Given the description of an element on the screen output the (x, y) to click on. 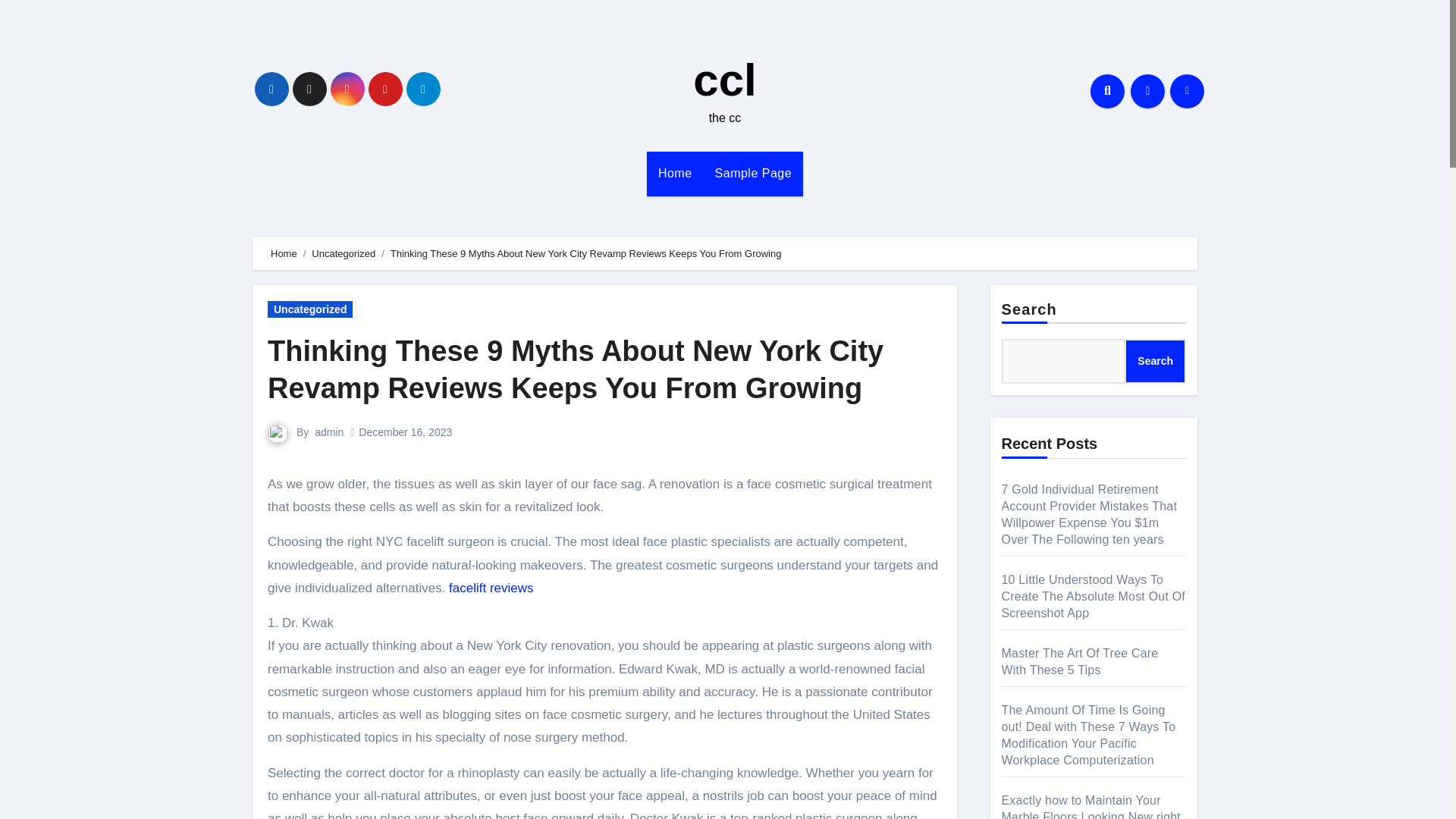
Home (674, 173)
admin (328, 431)
Uncategorized (343, 253)
Home (674, 173)
facelift reviews (490, 587)
Home (283, 253)
Sample Page (753, 173)
Uncategorized (309, 309)
December 16, 2023 (404, 431)
ccl (724, 79)
